Given the description of an element on the screen output the (x, y) to click on. 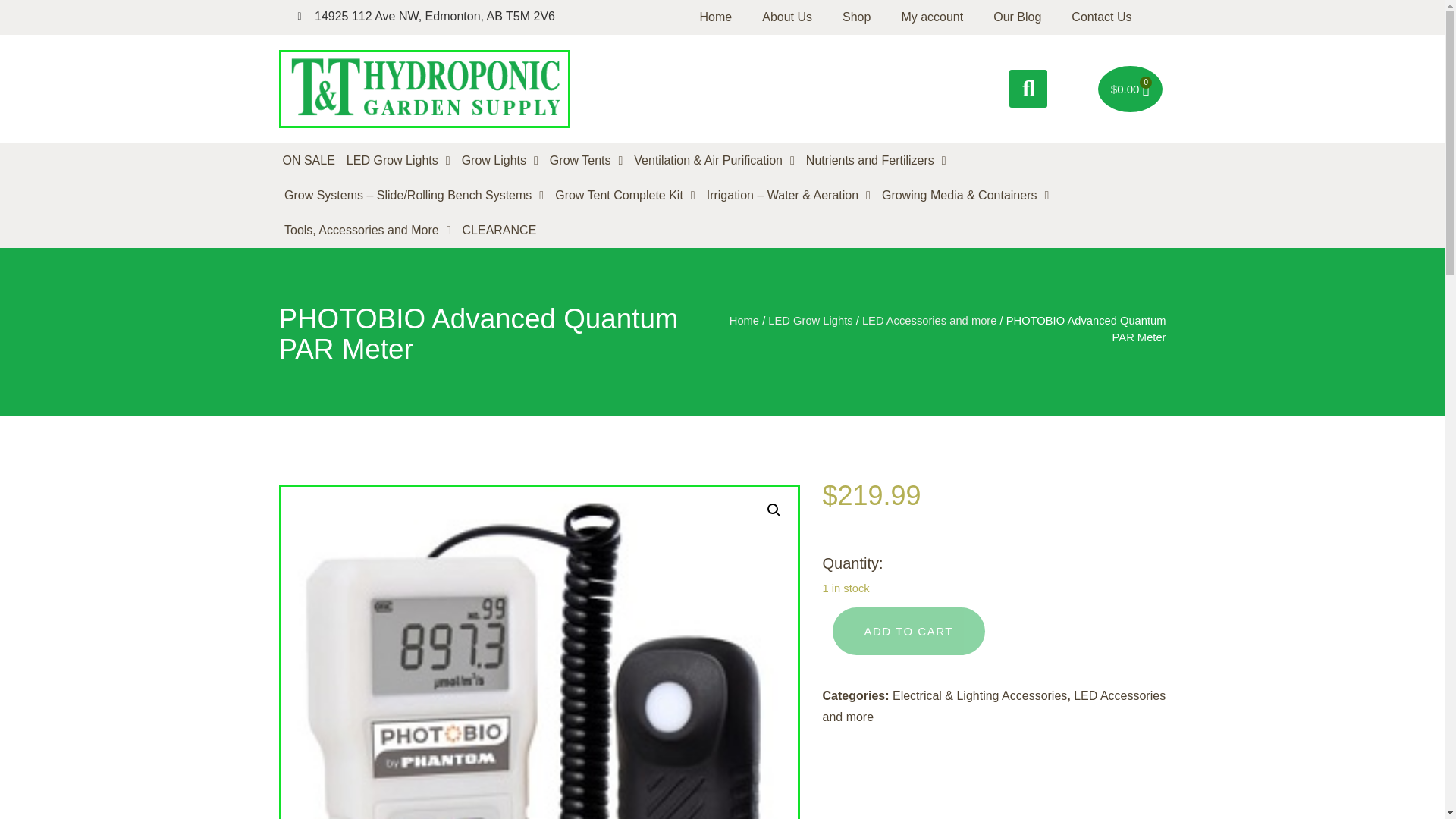
Grow Tents (586, 160)
ON SALE (309, 160)
Our Blog (1017, 17)
Home (716, 17)
LED Grow Lights (398, 160)
Contact Us (1102, 17)
Grow Lights (499, 160)
My account (931, 17)
Shop (856, 17)
About Us (786, 17)
